Given the description of an element on the screen output the (x, y) to click on. 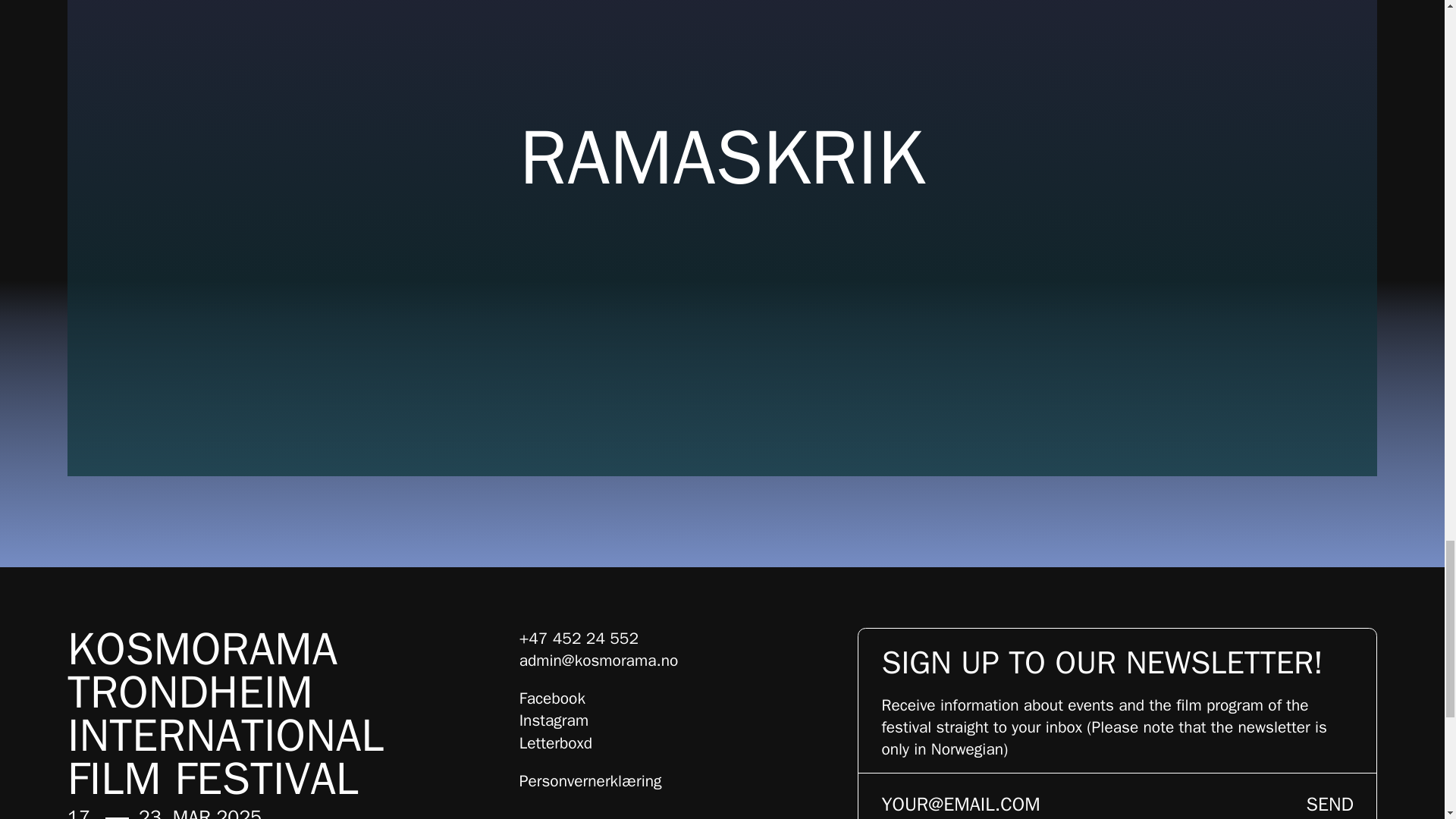
Letterboxd (555, 742)
RAMASKRIK (721, 148)
SEND (1329, 797)
Facebook (552, 698)
Instagram (553, 720)
